Given the description of an element on the screen output the (x, y) to click on. 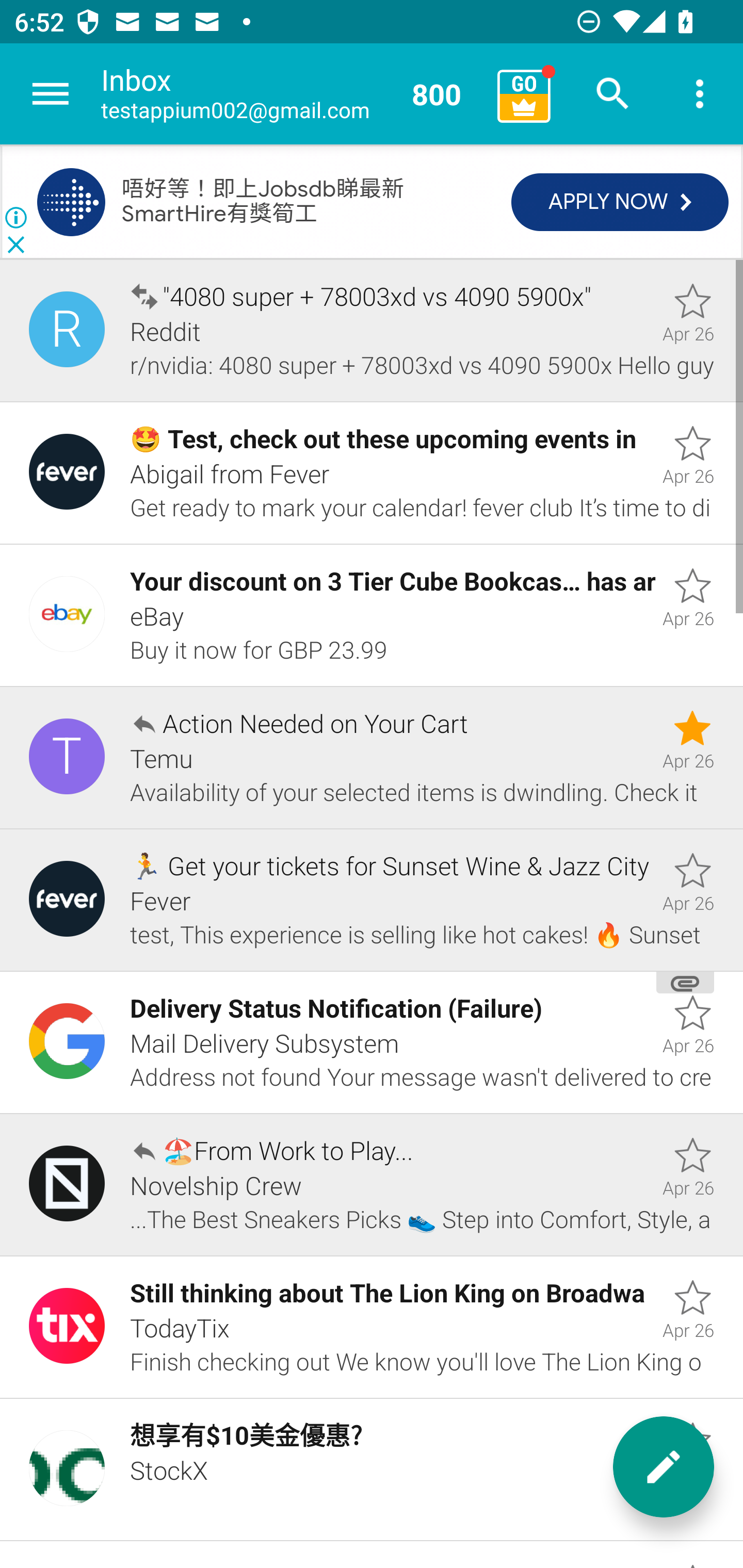
Navigate up (50, 93)
Inbox testappium002@gmail.com 800 (291, 93)
Search (612, 93)
More options (699, 93)
Jobsdb Hong Kong by SEEK (71, 202)
APPLY NOW (619, 203)
Unread, 想享有$10美金優惠?, StockX, Apr 26 (371, 1469)
New message (663, 1466)
